Given the description of an element on the screen output the (x, y) to click on. 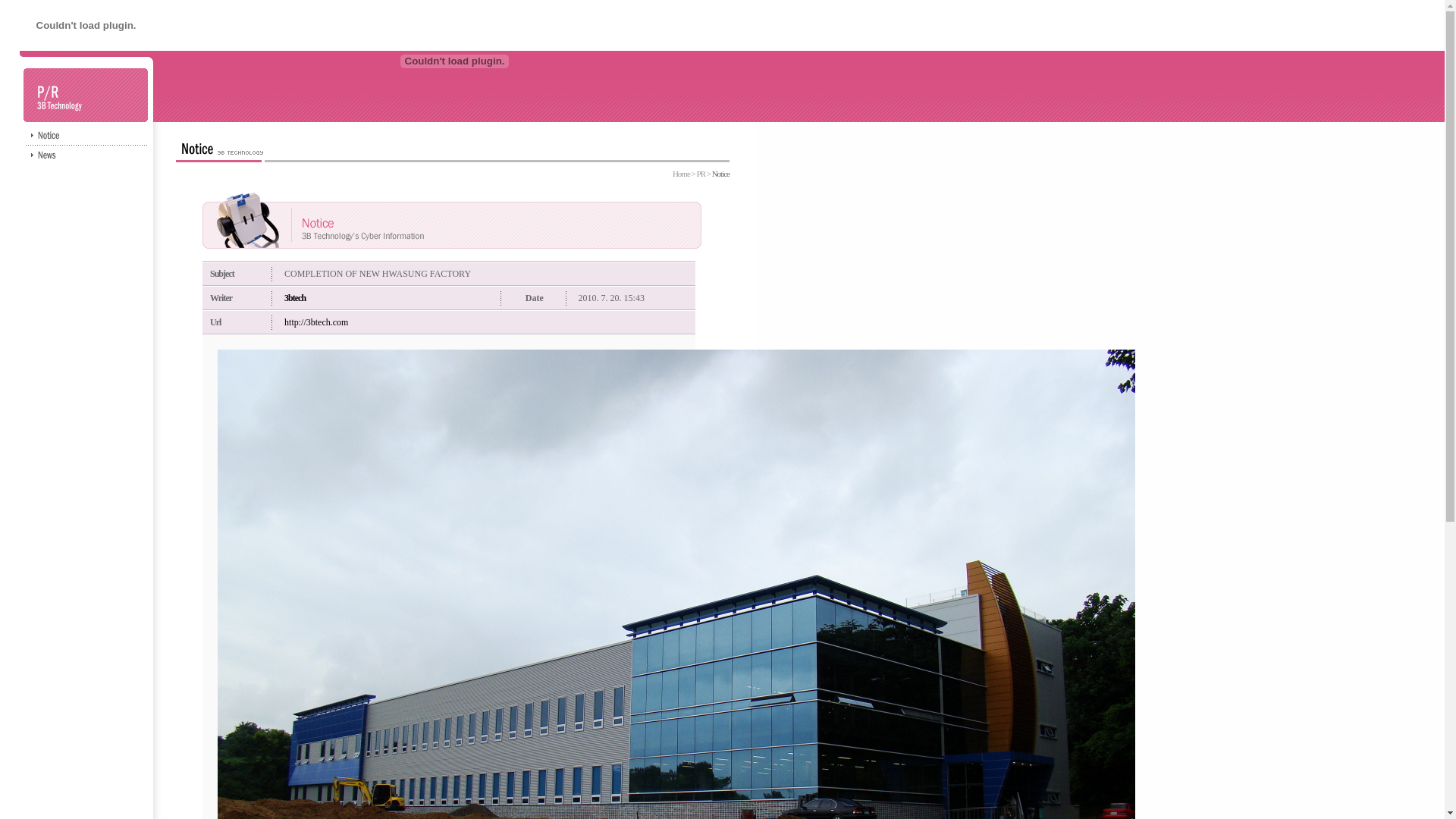
http://3btech.com Element type: text (316, 321)
3btech Element type: text (294, 297)
